Given the description of an element on the screen output the (x, y) to click on. 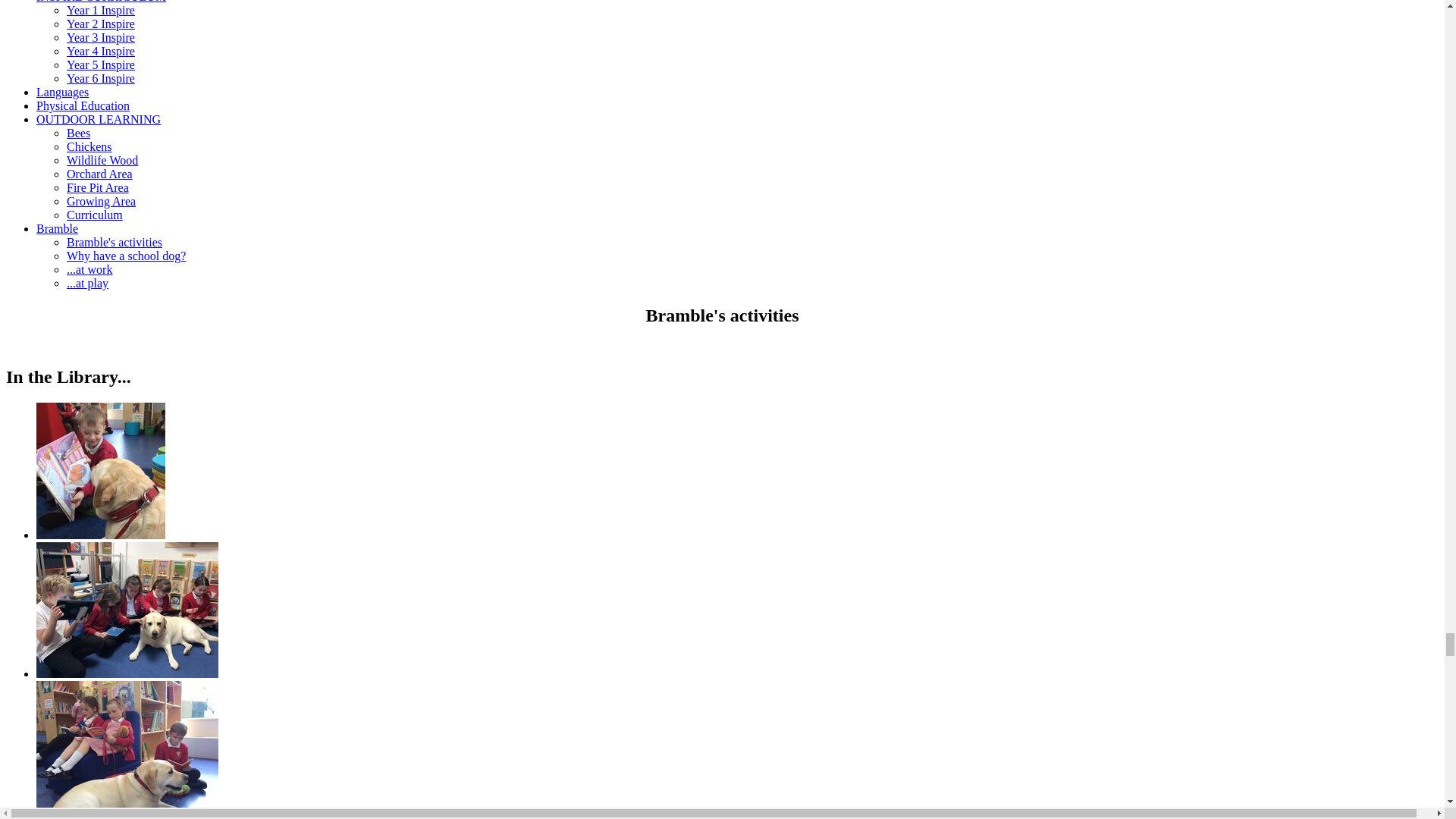
Y3 Library May 3.jpg (127, 748)
Y3 Library May 2.jpg (127, 610)
Y3 Library May 1.jpg (100, 470)
